Given the description of an element on the screen output the (x, y) to click on. 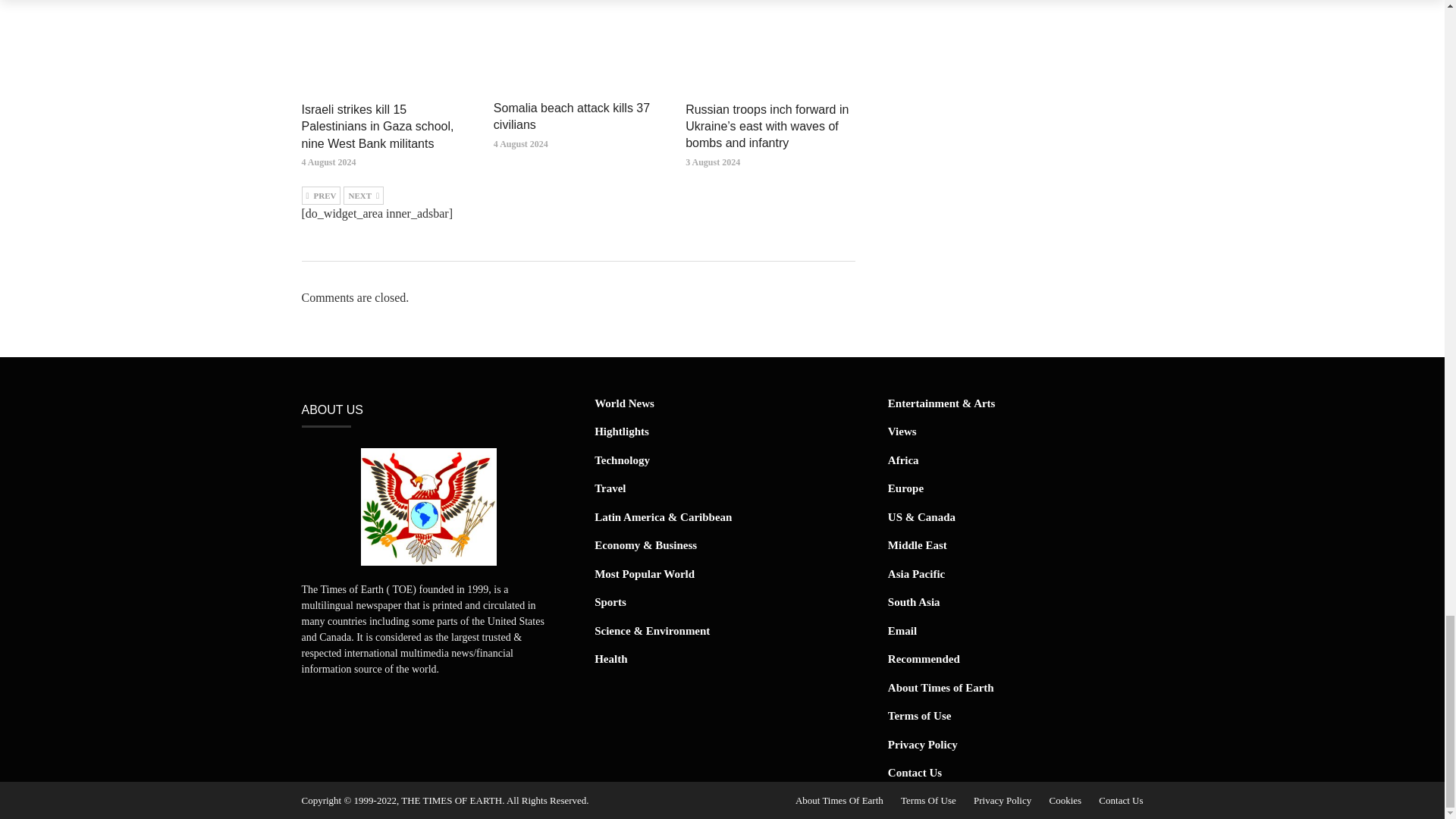
Previous (320, 195)
Next (363, 195)
